Given the description of an element on the screen output the (x, y) to click on. 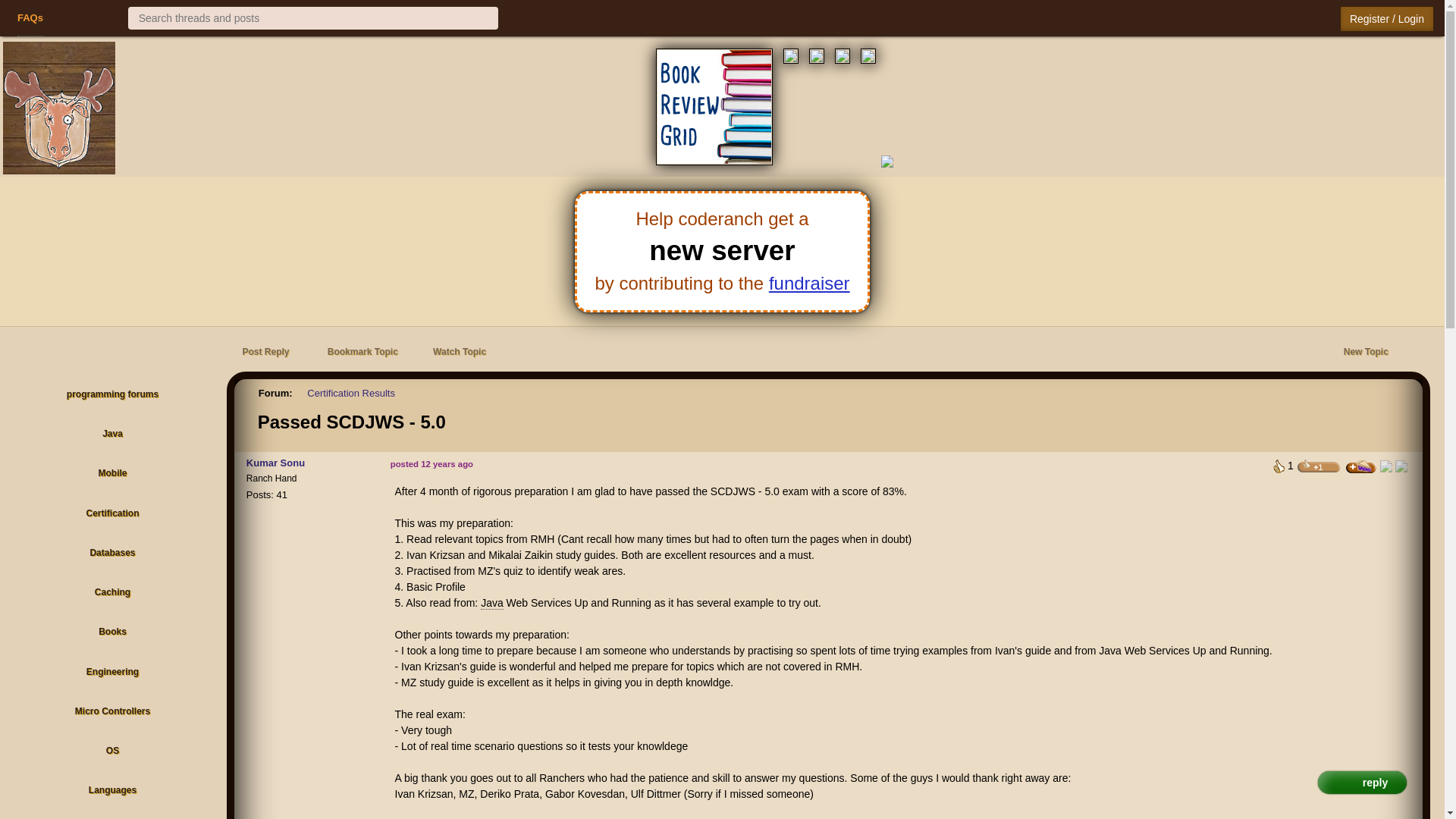
Java (112, 434)
You must log in or register to be able to reply (265, 352)
Engineering (112, 672)
fundraiser (809, 282)
Caching (112, 593)
Certification (112, 513)
Pie (69, 18)
Paradigms (112, 817)
Micro Controllers (112, 712)
You must log in or register to be able to create a new topic (1365, 352)
Certification (112, 513)
Databases (112, 553)
OS (112, 751)
Micro Controllers (112, 712)
Caching (112, 593)
